Given the description of an element on the screen output the (x, y) to click on. 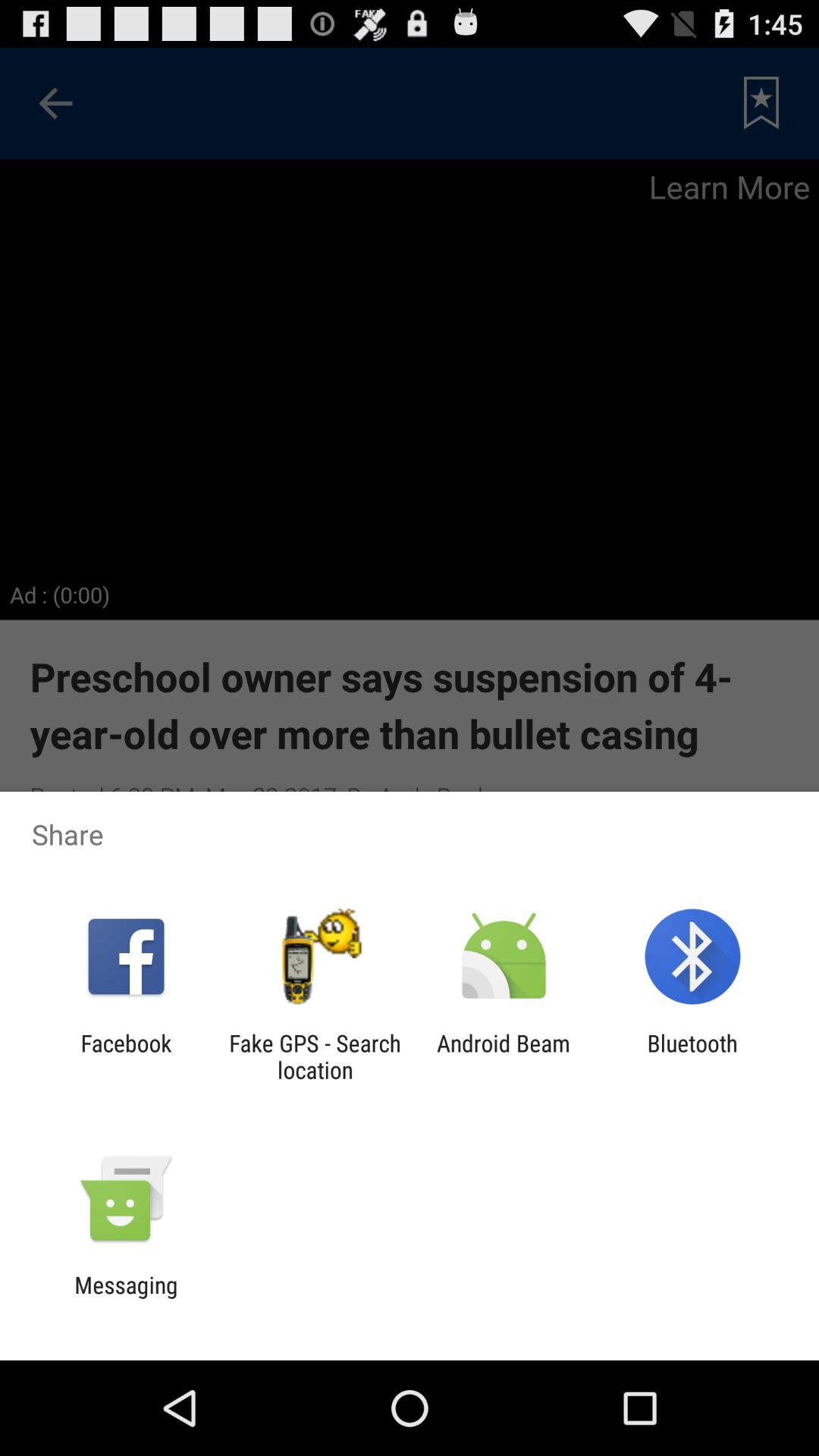
launch the messaging item (126, 1298)
